Given the description of an element on the screen output the (x, y) to click on. 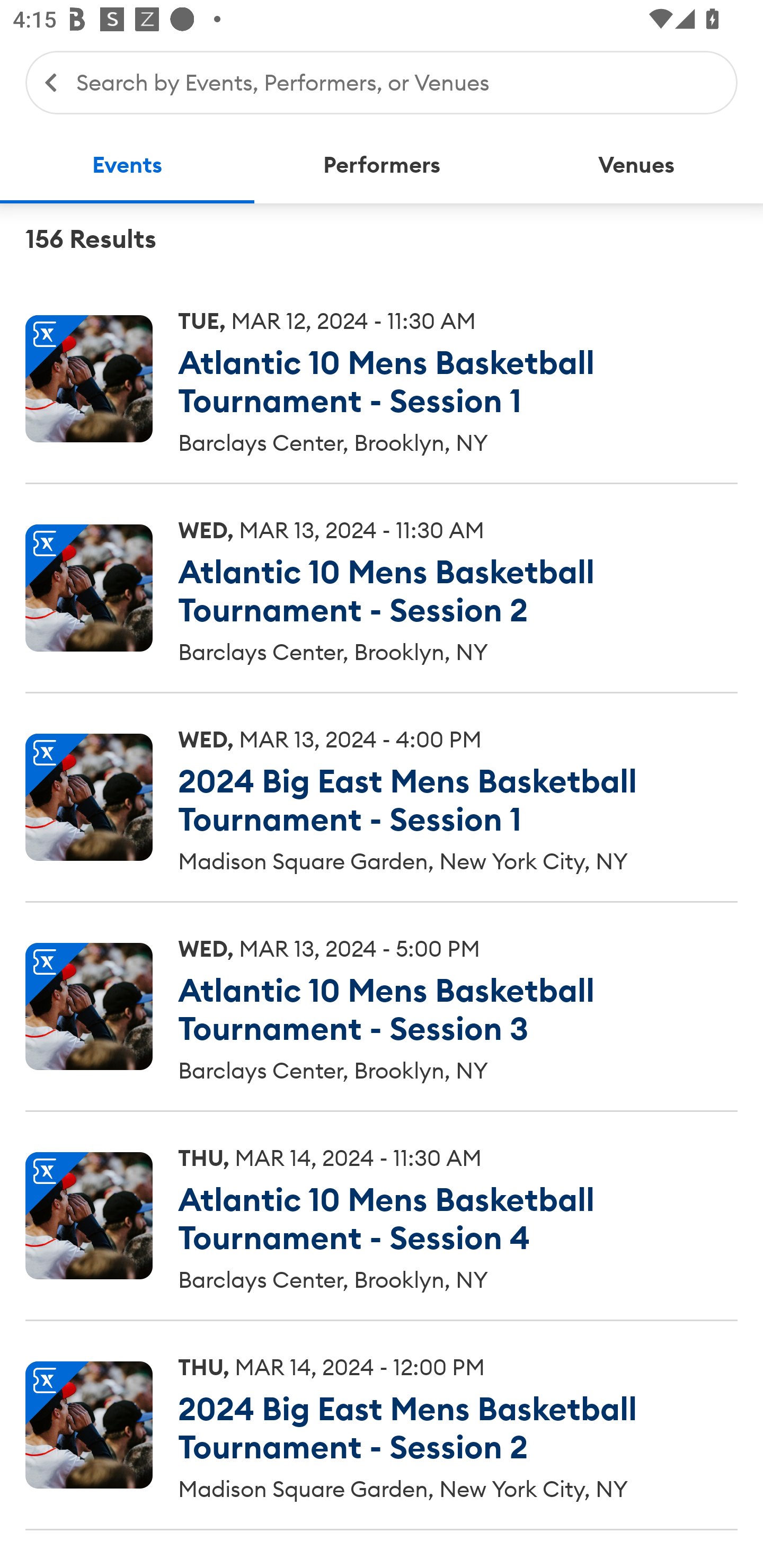
Performers (381, 165)
Venues (635, 165)
